Given the description of an element on the screen output the (x, y) to click on. 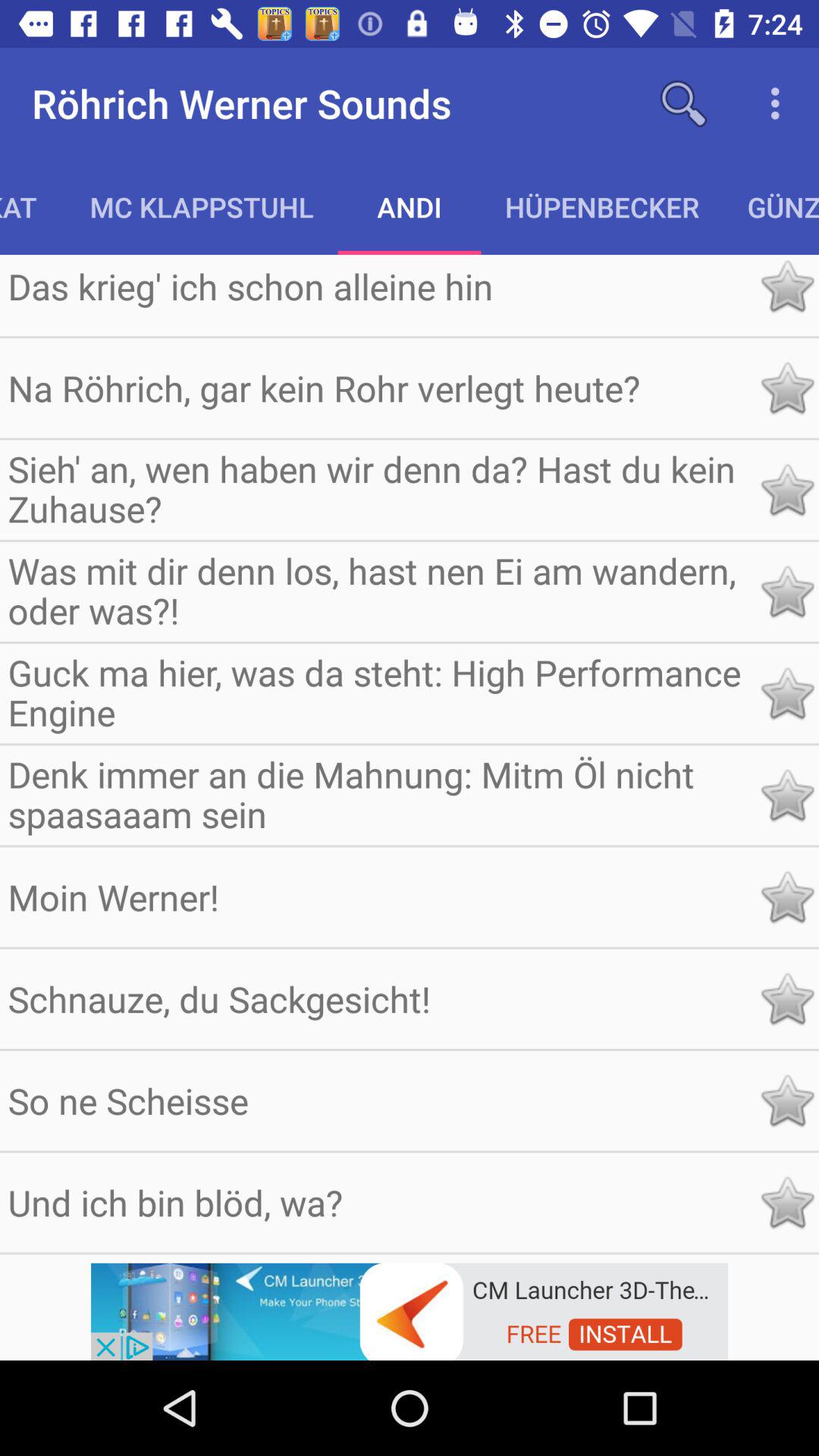
favorite message (787, 1100)
